Given the description of an element on the screen output the (x, y) to click on. 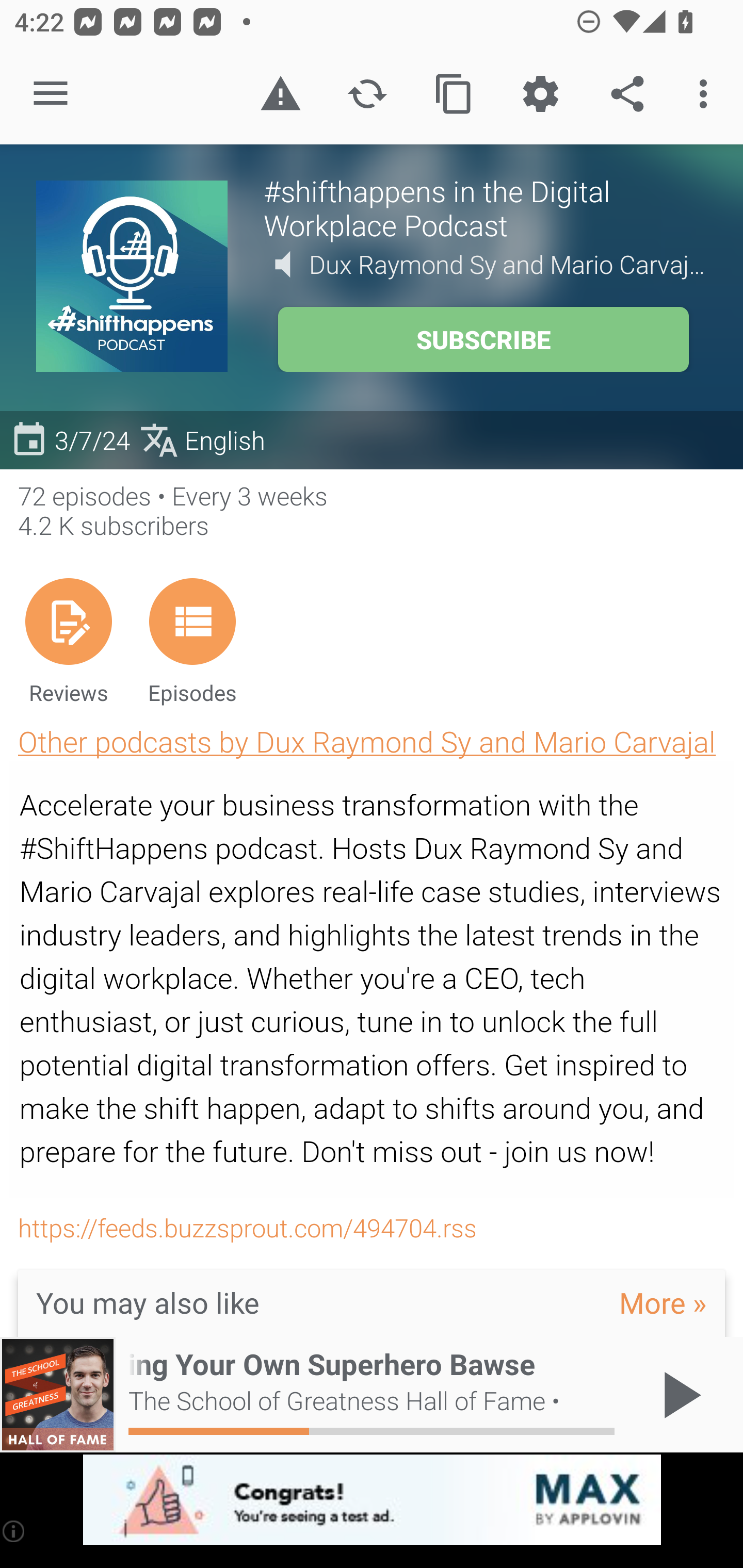
Open navigation sidebar (50, 93)
Report inappropriate content (280, 93)
Refresh podcast description (366, 93)
Copy feed url to clipboard (453, 93)
Custom Settings (540, 93)
Share the podcast (626, 93)
More options (706, 93)
#shifthappens in the Digital Workplace Podcast (484, 207)
Dux Raymond Sy and Mario Carvajal (507, 263)
SUBSCRIBE (482, 339)
Reviews (68, 640)
Episodes (192, 640)
More » (662, 1301)
Play / Pause (677, 1394)
app-monetization (371, 1500)
(i) (14, 1531)
